Given the description of an element on the screen output the (x, y) to click on. 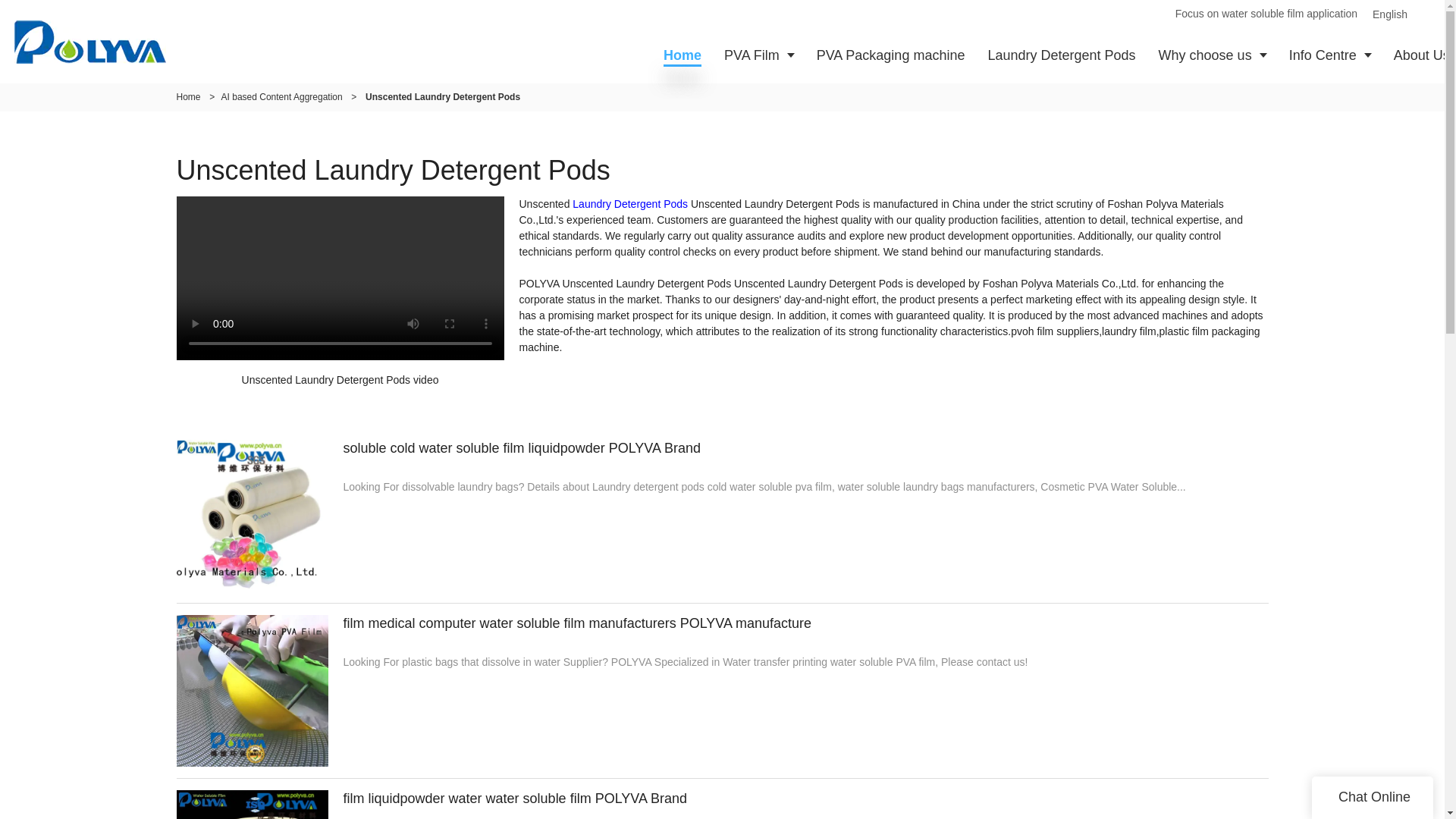
Laundry Detergent Pods (629, 203)
Info Centre (1329, 55)
AI based Content Aggregation (281, 96)
Home (682, 55)
Laundry Detergent Pods (1061, 55)
PVA Packaging machine (890, 55)
PVA Film (759, 55)
About Us (1418, 55)
Why choose us (1212, 55)
Home (188, 96)
